Given the description of an element on the screen output the (x, y) to click on. 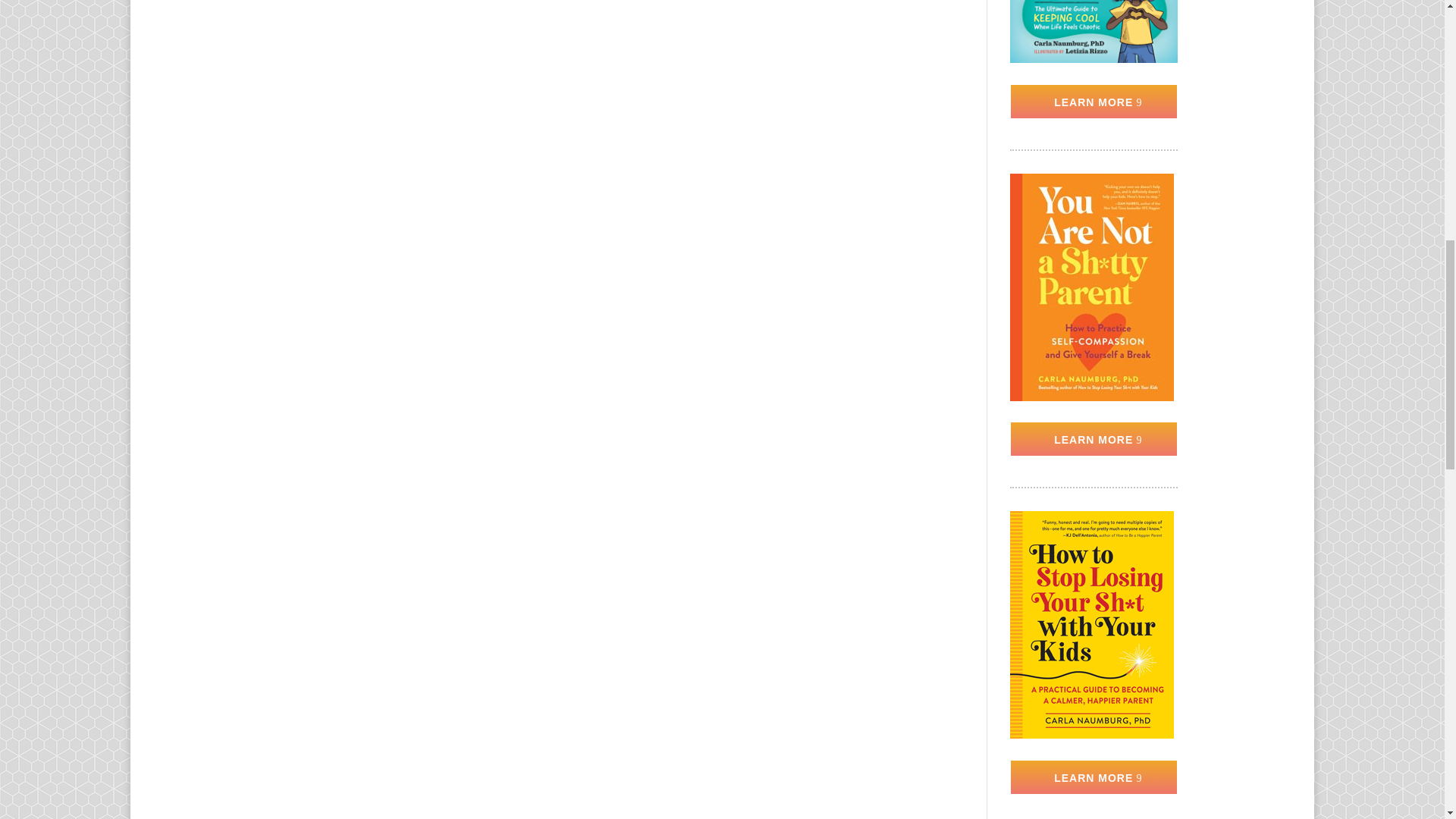
LEARN MORE (1093, 438)
LEARN MORE (1093, 777)
LEARN MORE (1093, 101)
